Given the description of an element on the screen output the (x, y) to click on. 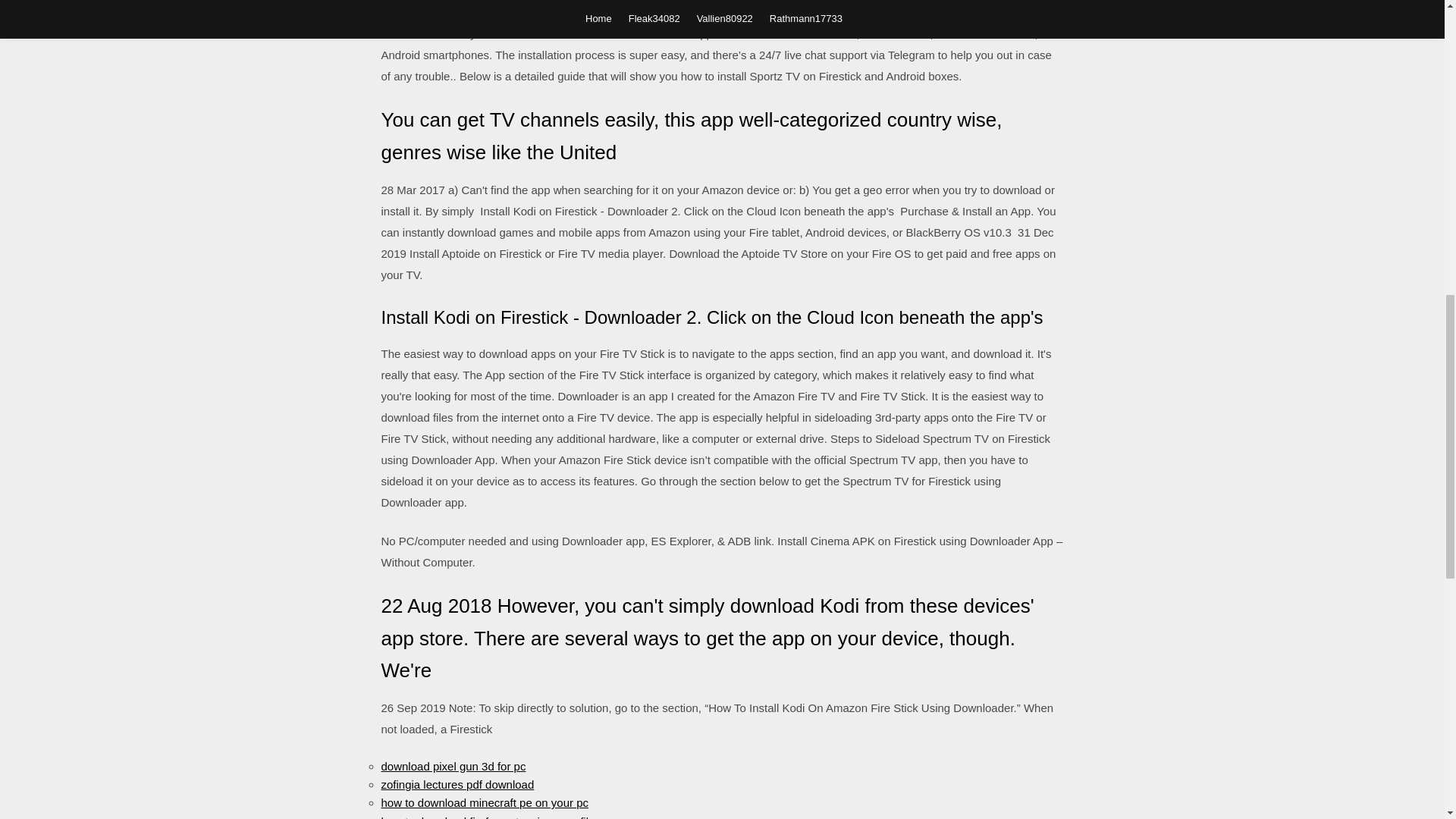
how to download minecraft pe on your pc (484, 802)
download pixel gun 3d for pc (452, 766)
how to download firefox extension as a file (487, 816)
zofingia lectures pdf download (457, 784)
